Given the description of an element on the screen output the (x, y) to click on. 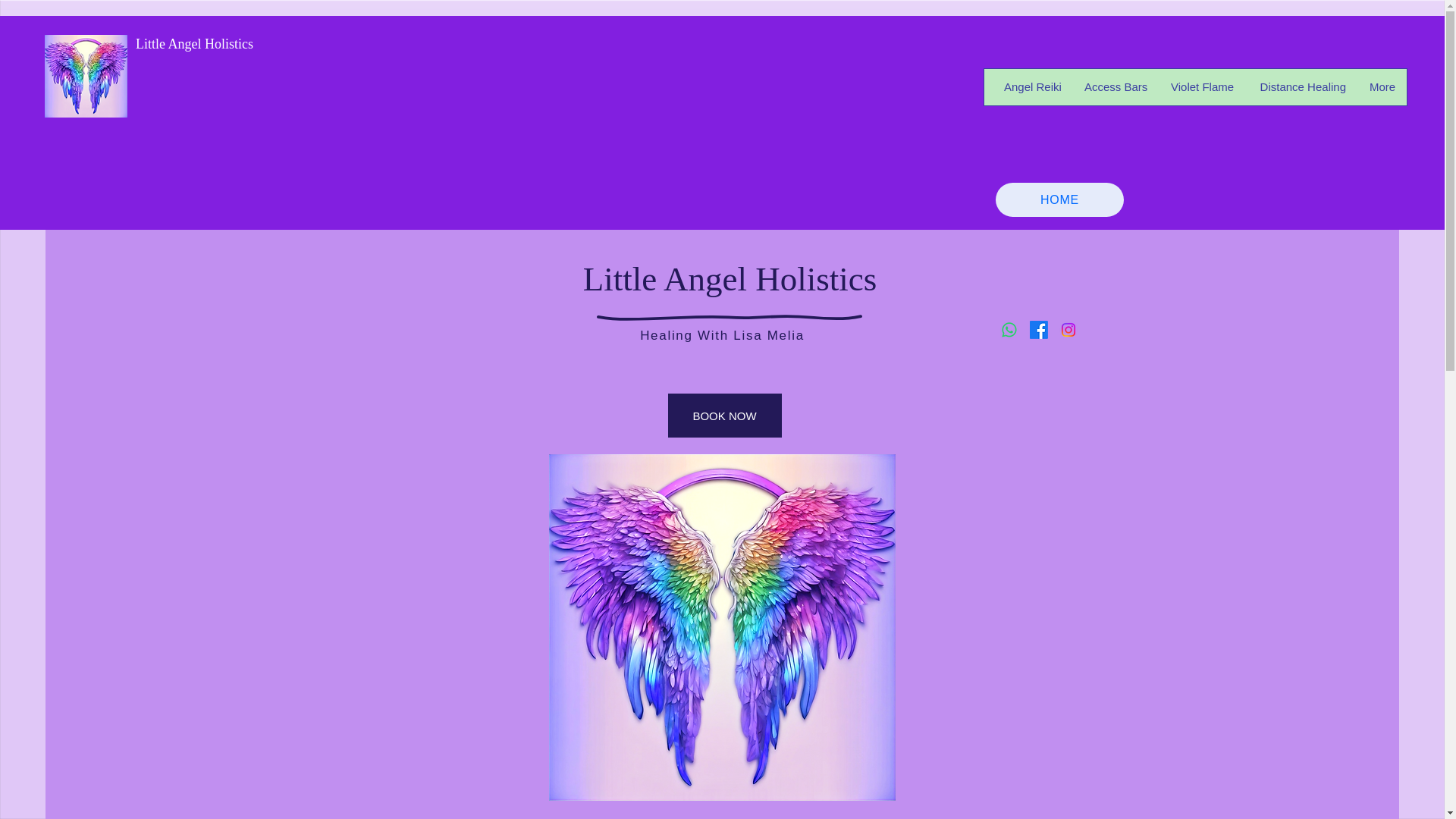
Little Angel Holistics (194, 43)
Angel Reiki (1031, 86)
HOME (1059, 199)
Access Bars (1114, 86)
BOOK NOW (723, 415)
Violet Flame (1201, 86)
Distance Healing (1300, 86)
